Given the description of an element on the screen output the (x, y) to click on. 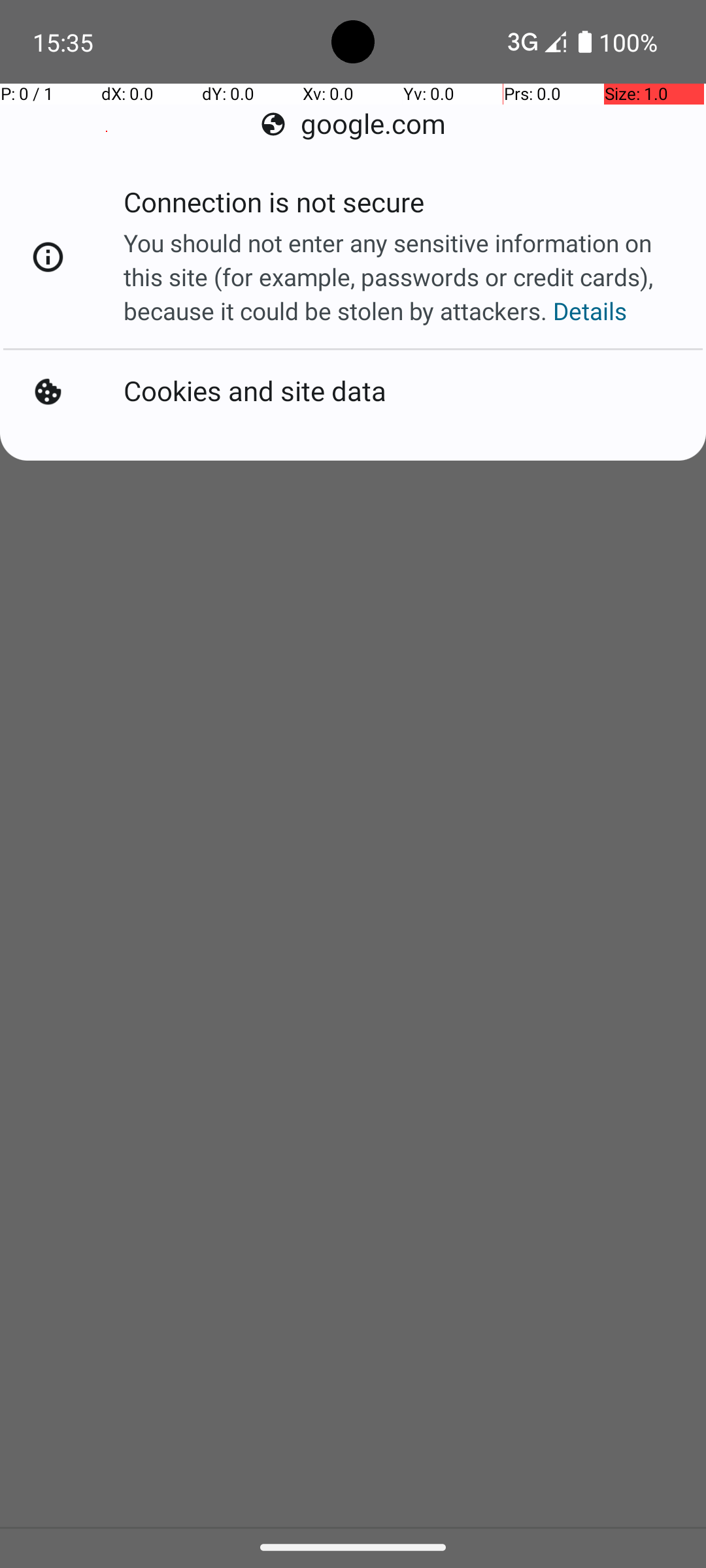
Connection is not secure Element type: android.widget.TextView (273, 206)
You should not enter any sensitive information on this site (for example, passwords or credit cards), because it could be stolen by attackers. Details Element type: android.widget.TextView (400, 276)
Cookies and site data Element type: android.widget.TextView (254, 391)
